Given the description of an element on the screen output the (x, y) to click on. 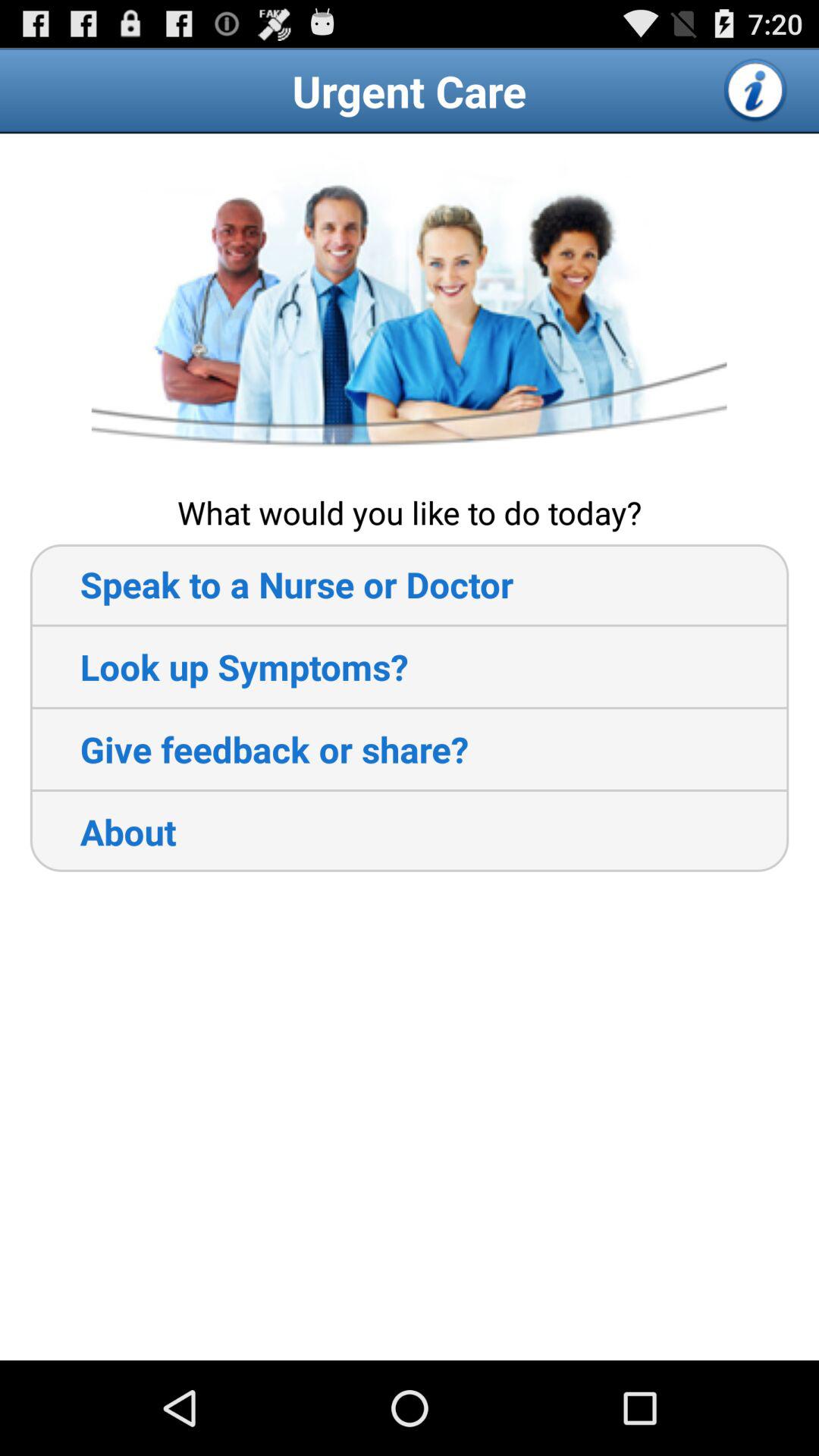
press item above the look up symptoms? icon (271, 584)
